Given the description of an element on the screen output the (x, y) to click on. 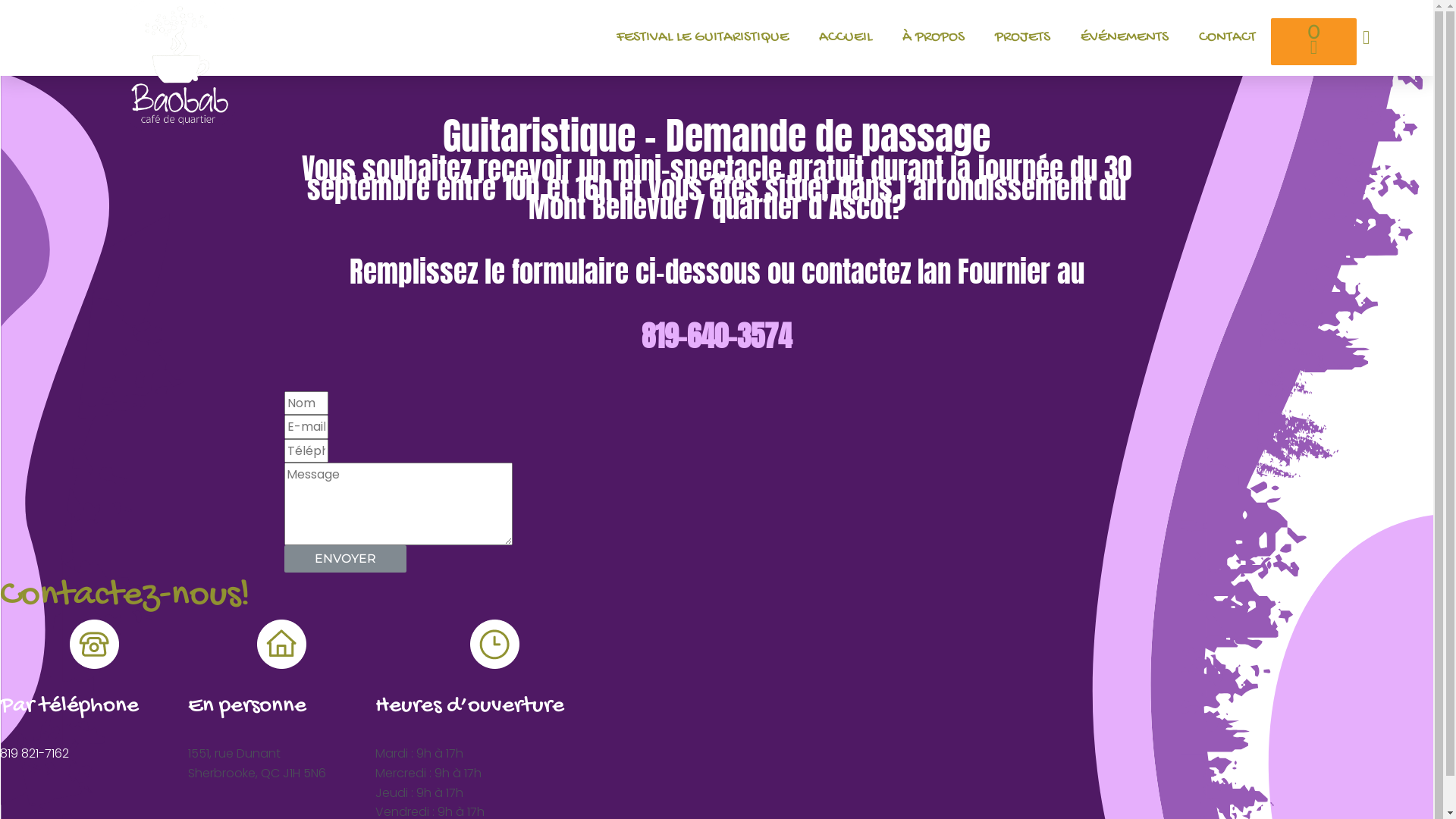
PROJETS Element type: text (1022, 37)
819 821-7162 Element type: text (34, 753)
ENVOYER Element type: text (345, 558)
0
PANIER Element type: text (1313, 41)
FESTIVAL LE GUITARISTIQUE Element type: text (702, 37)
CONTACT Element type: text (1226, 37)
ACCUEIL Element type: text (845, 37)
